Given the description of an element on the screen output the (x, y) to click on. 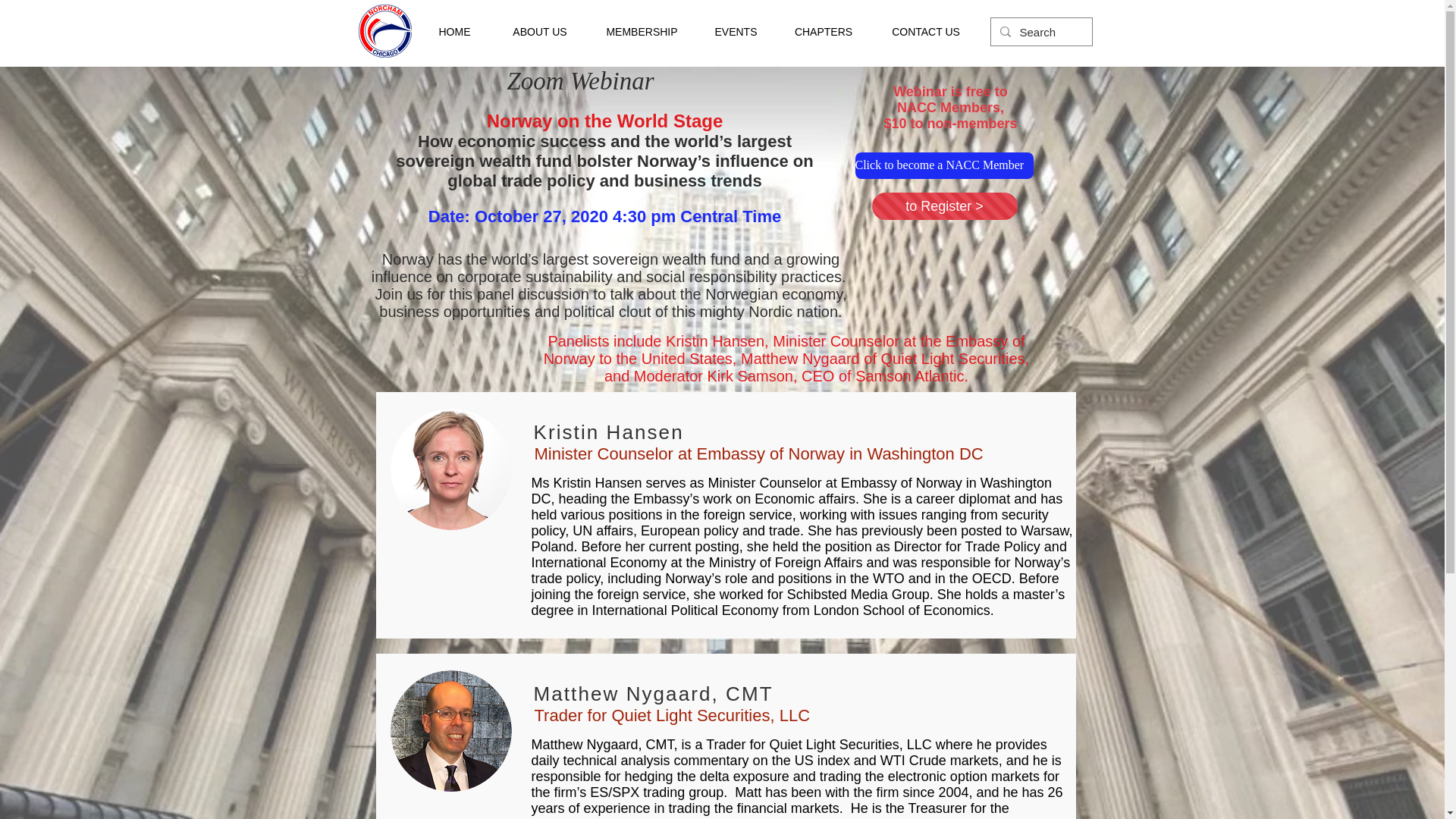
Click to become a NACC Member (944, 165)
HOME (454, 31)
CONTACT US (924, 31)
